Given the description of an element on the screen output the (x, y) to click on. 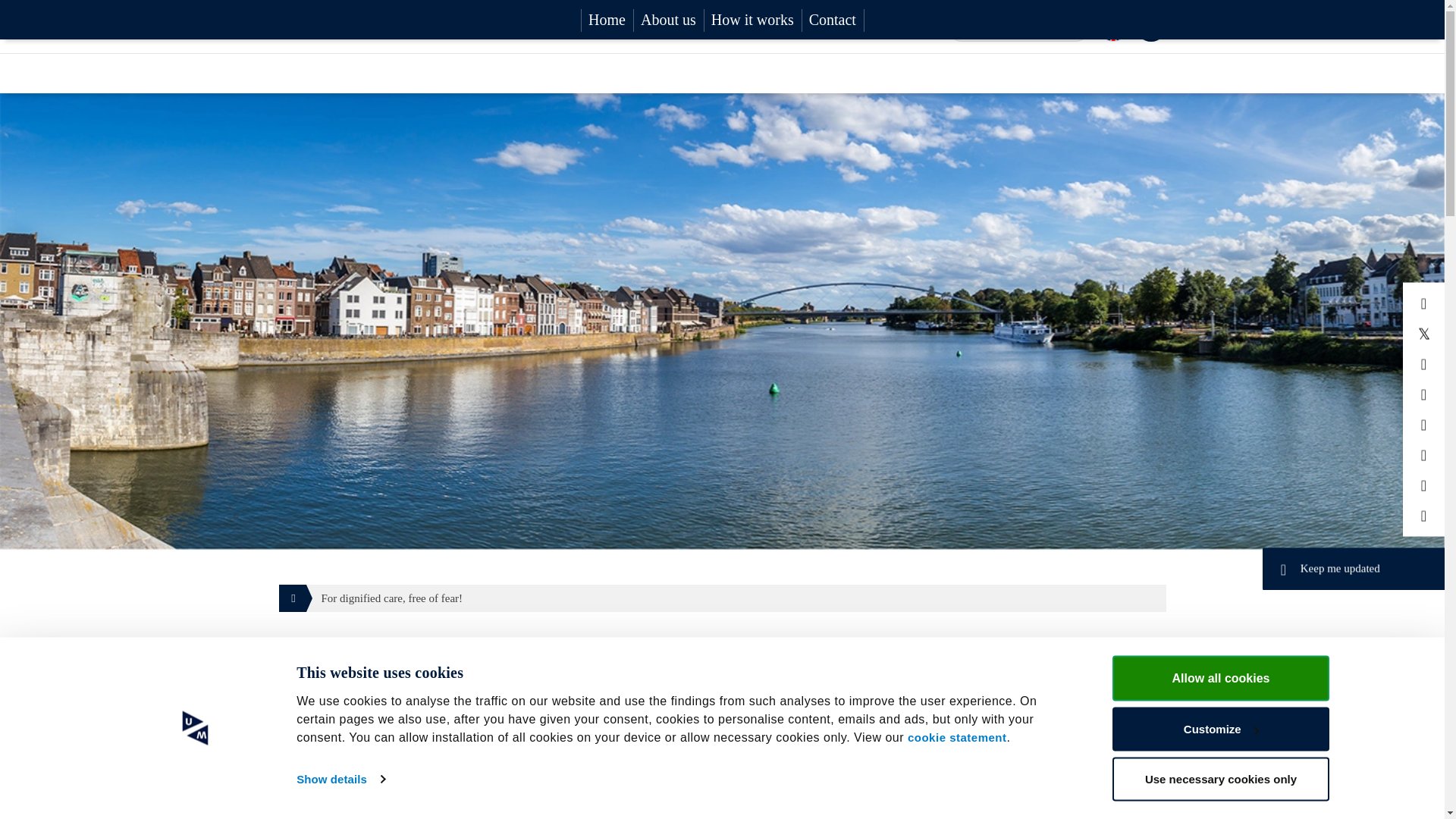
Show details (340, 778)
cookie statement (956, 736)
